Given the description of an element on the screen output the (x, y) to click on. 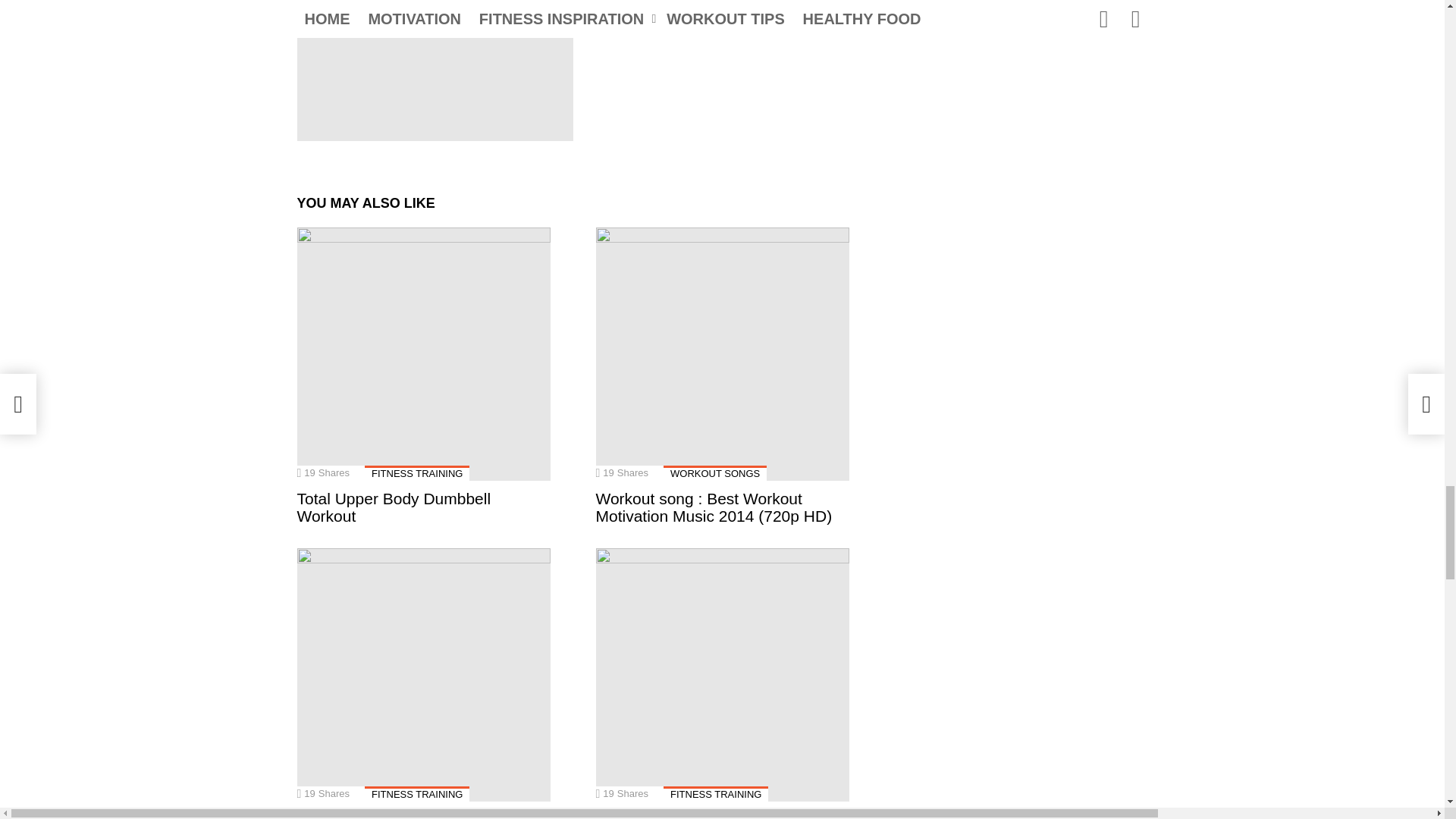
Total Upper Body Dumbbell Workout (423, 353)
